Given the description of an element on the screen output the (x, y) to click on. 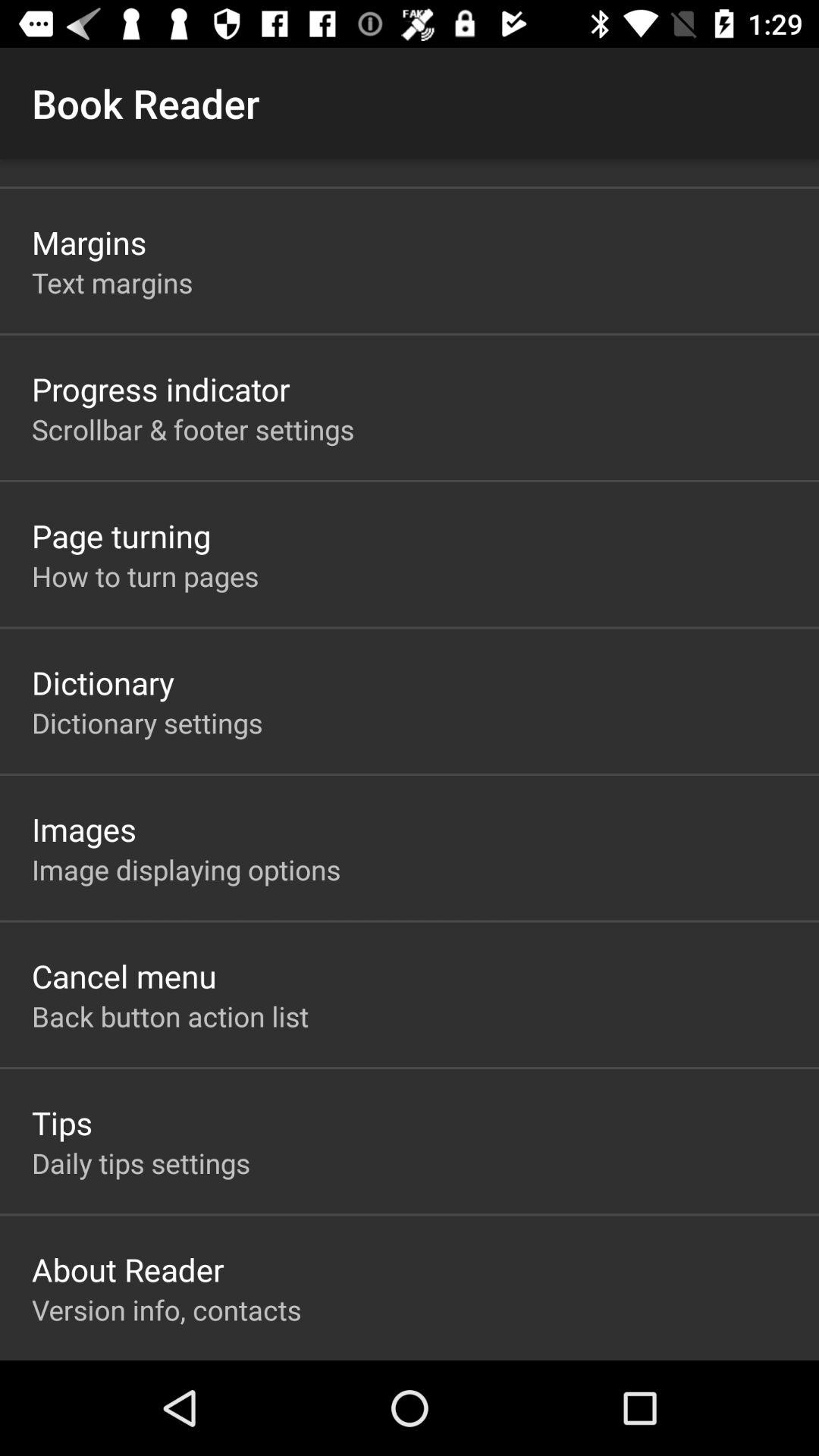
open the how to turn icon (144, 575)
